Given the description of an element on the screen output the (x, y) to click on. 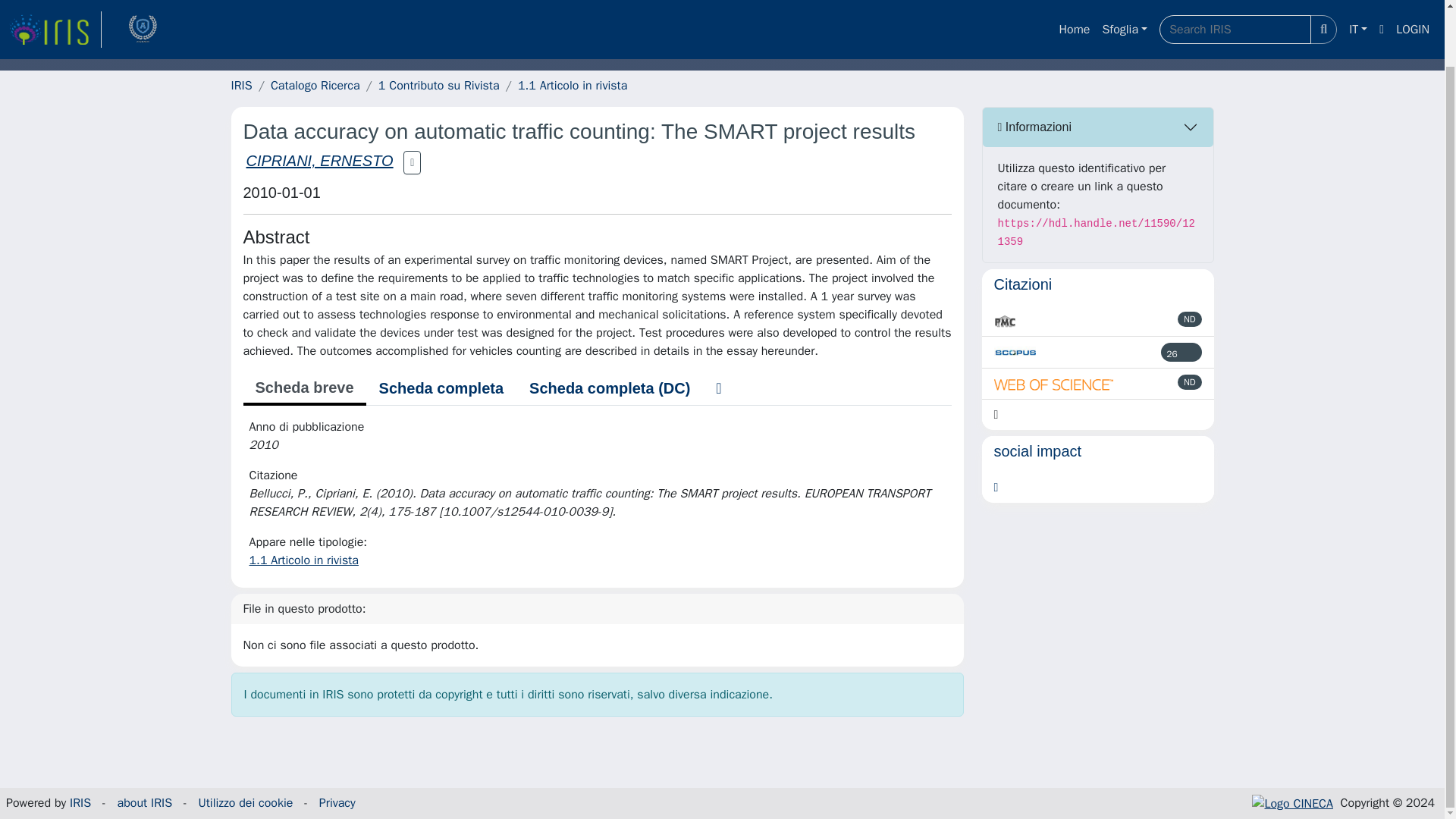
1.1 Articolo in rivista (572, 85)
Scheda completa (441, 388)
IRIS (240, 85)
CIPRIANI, ERNESTO (319, 160)
Scheda breve (304, 388)
 Informazioni (1097, 127)
IRIS (79, 802)
Catalogo Ricerca (314, 85)
1.1 Articolo in rivista (303, 560)
1 Contributo su Rivista (438, 85)
